Given the description of an element on the screen output the (x, y) to click on. 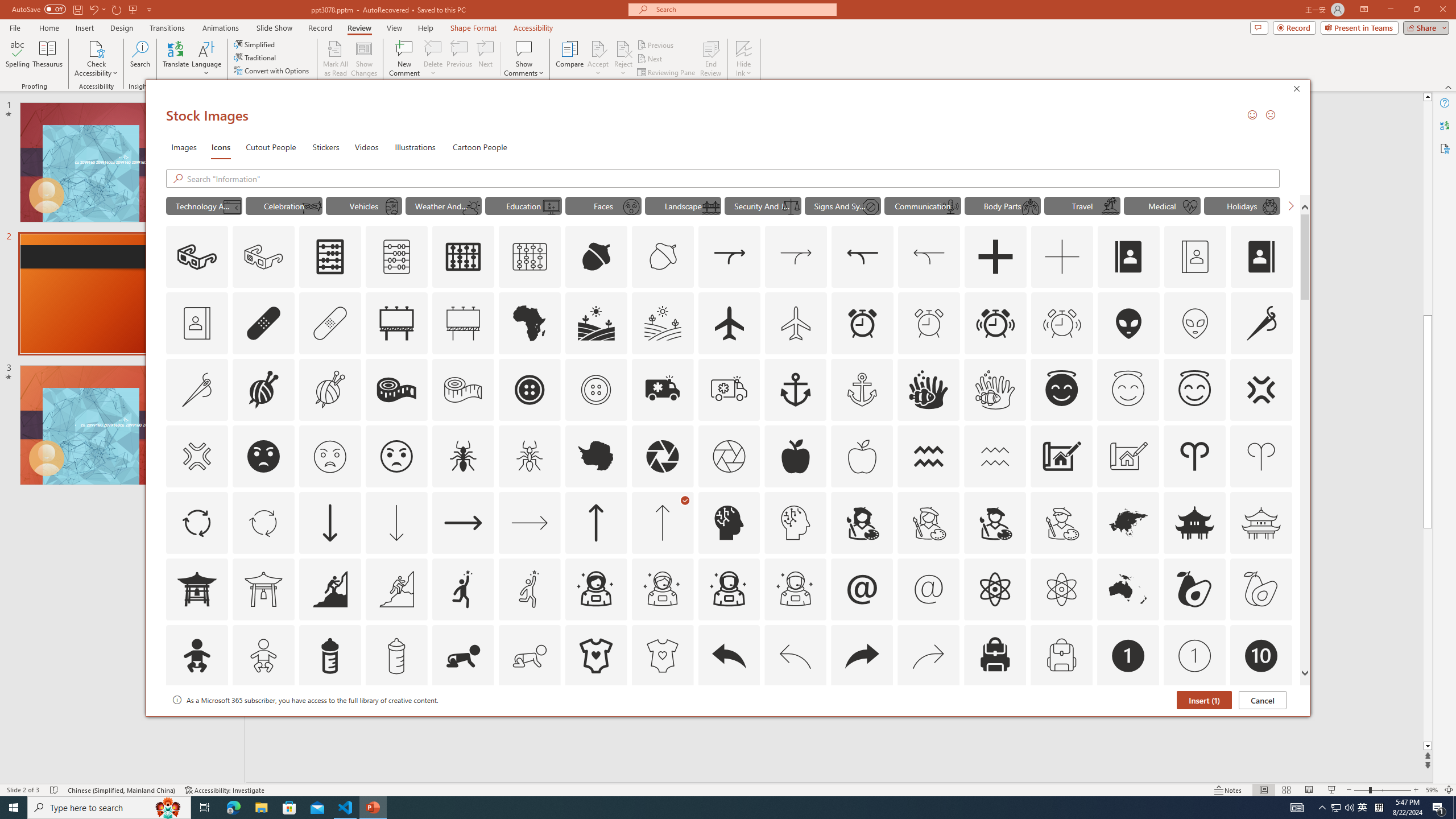
AutomationID: Icons_Acorn (596, 256)
AutomationID: Icons_Aquarius_M (995, 455)
AutomationID: Icons_Back_LTR (729, 655)
AutomationID: Icons_AddressBook_LTR (1128, 256)
AutomationID: Icons_StopSign_M (870, 206)
